Given the description of an element on the screen output the (x, y) to click on. 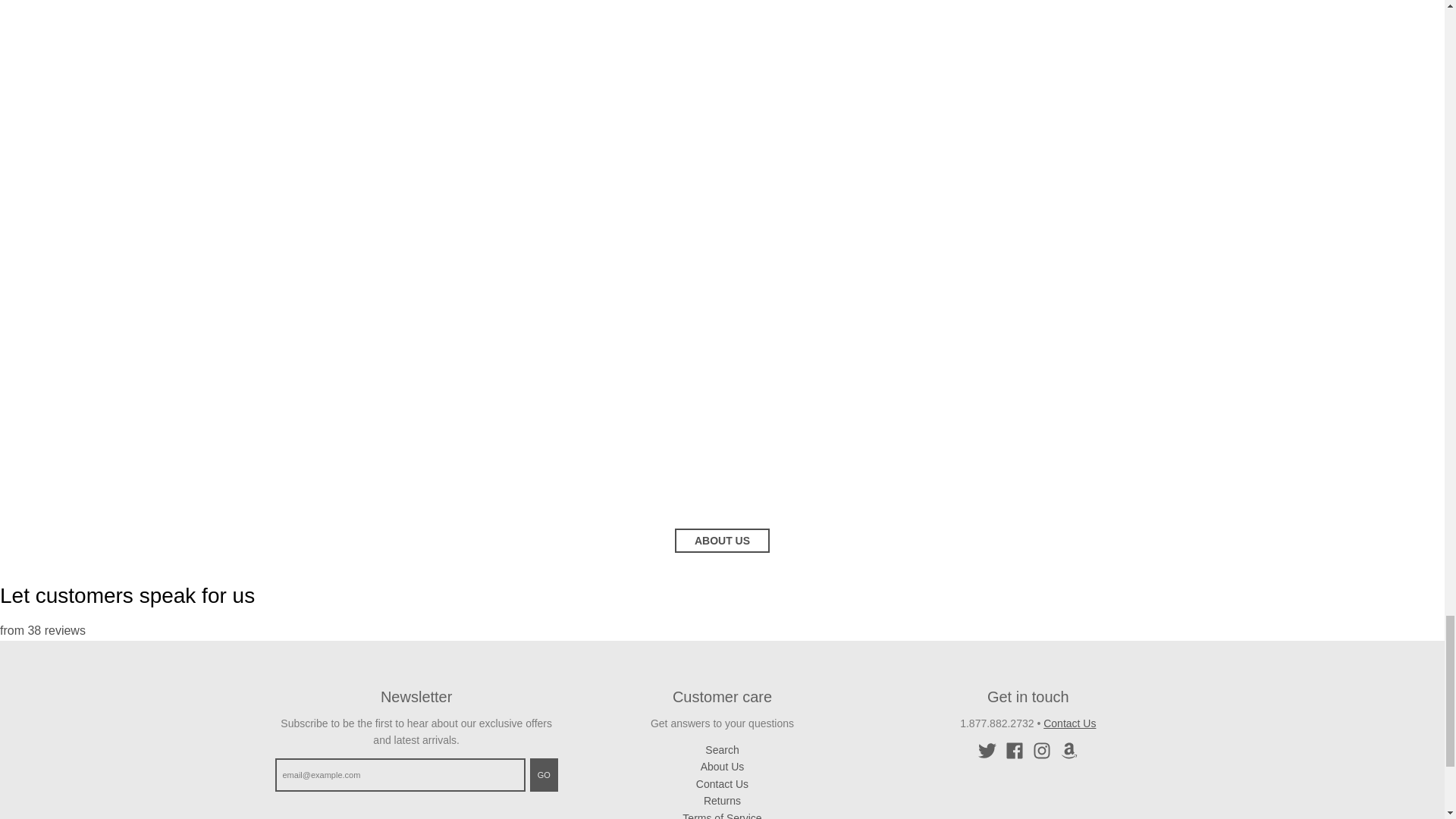
Amazon - UVCareUSA (1068, 751)
Instagram - UVCareUSA (1041, 751)
Twitter - UVCareUSA (986, 751)
Facebook - UVCareUSA (1014, 751)
